Given the description of an element on the screen output the (x, y) to click on. 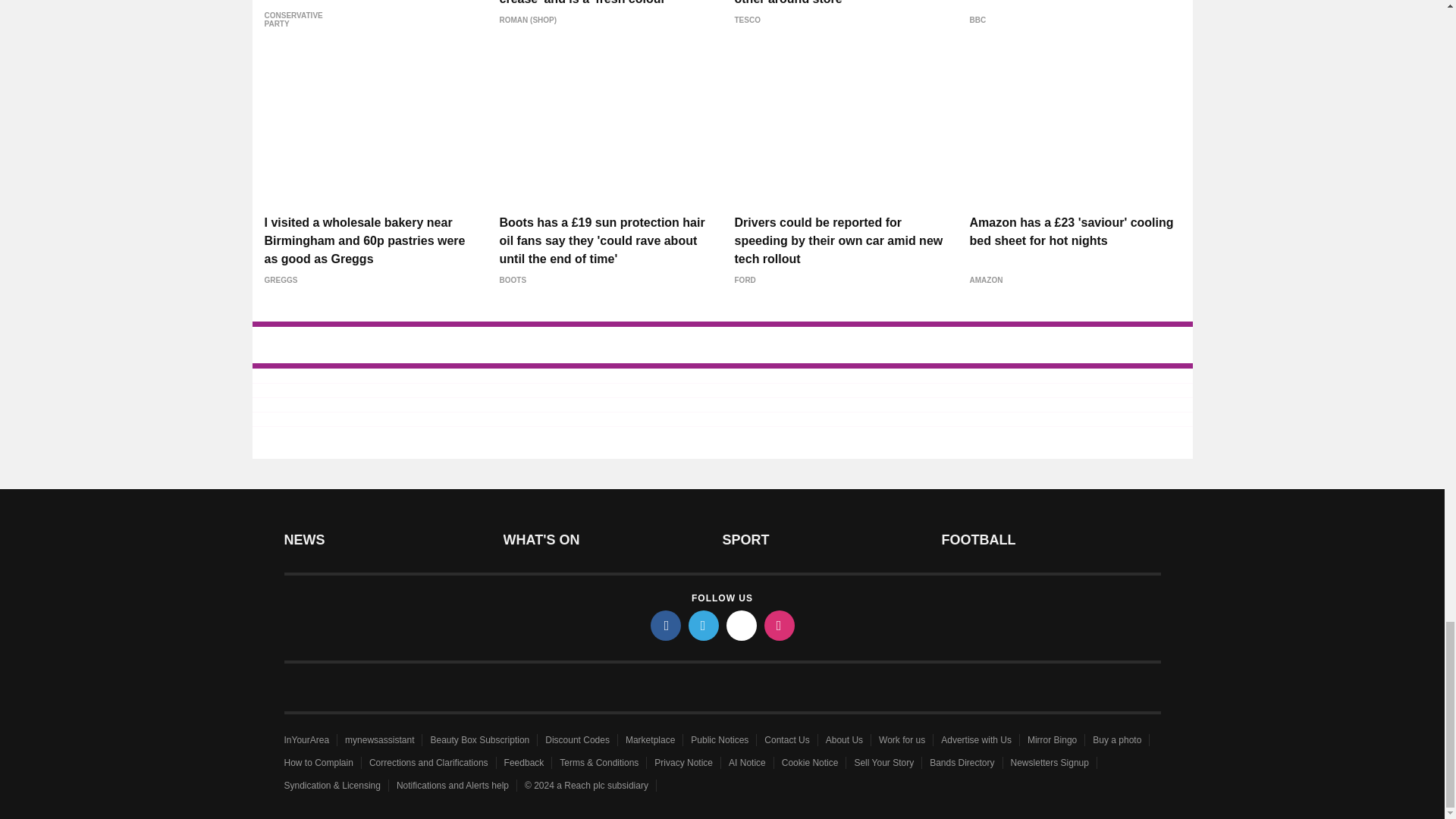
instagram (779, 625)
tiktok (741, 625)
facebook (665, 625)
twitter (703, 625)
